Given the description of an element on the screen output the (x, y) to click on. 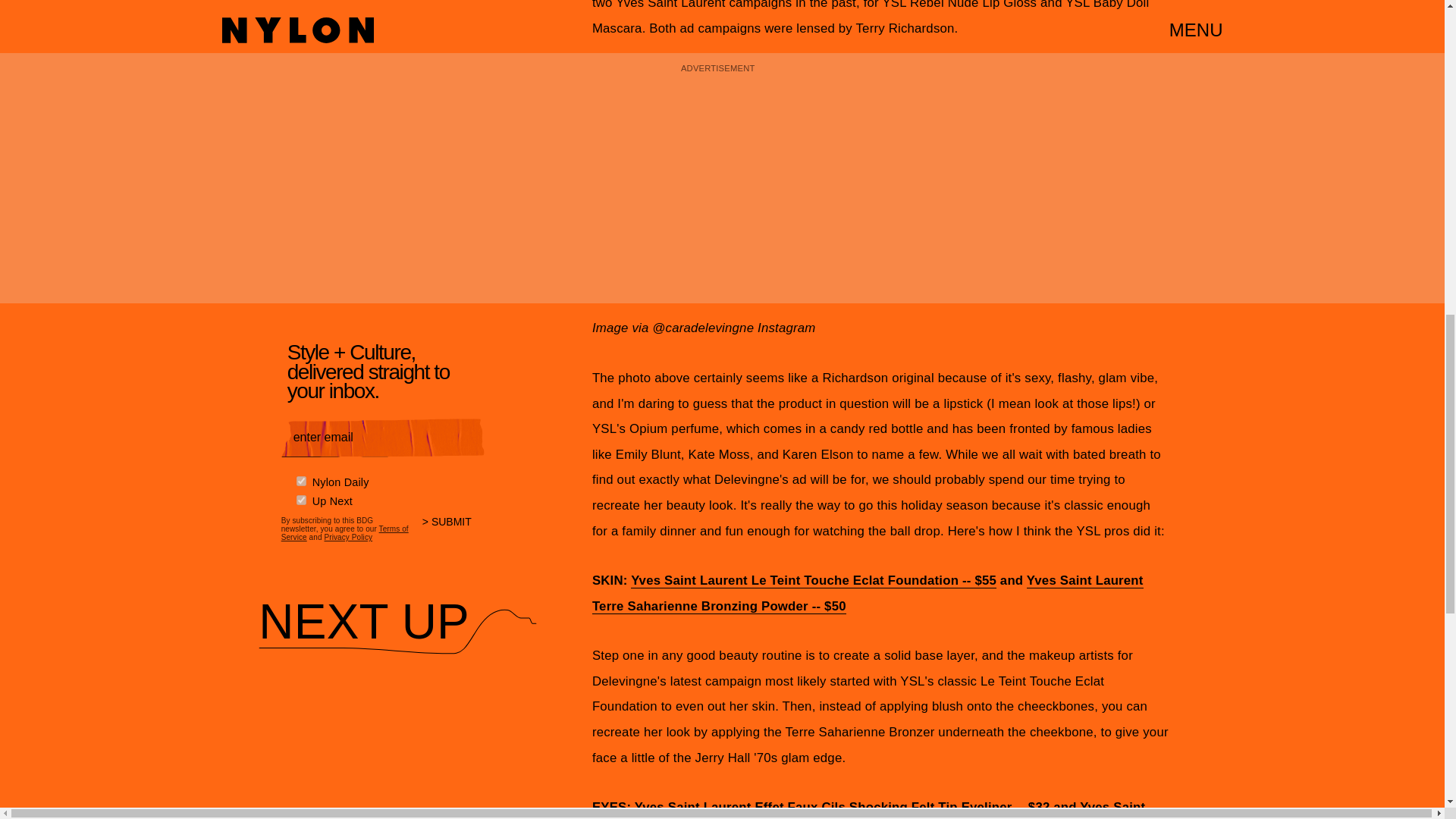
Privacy Policy (347, 537)
SUBMIT (453, 531)
Terms of Service (345, 532)
